Given the description of an element on the screen output the (x, y) to click on. 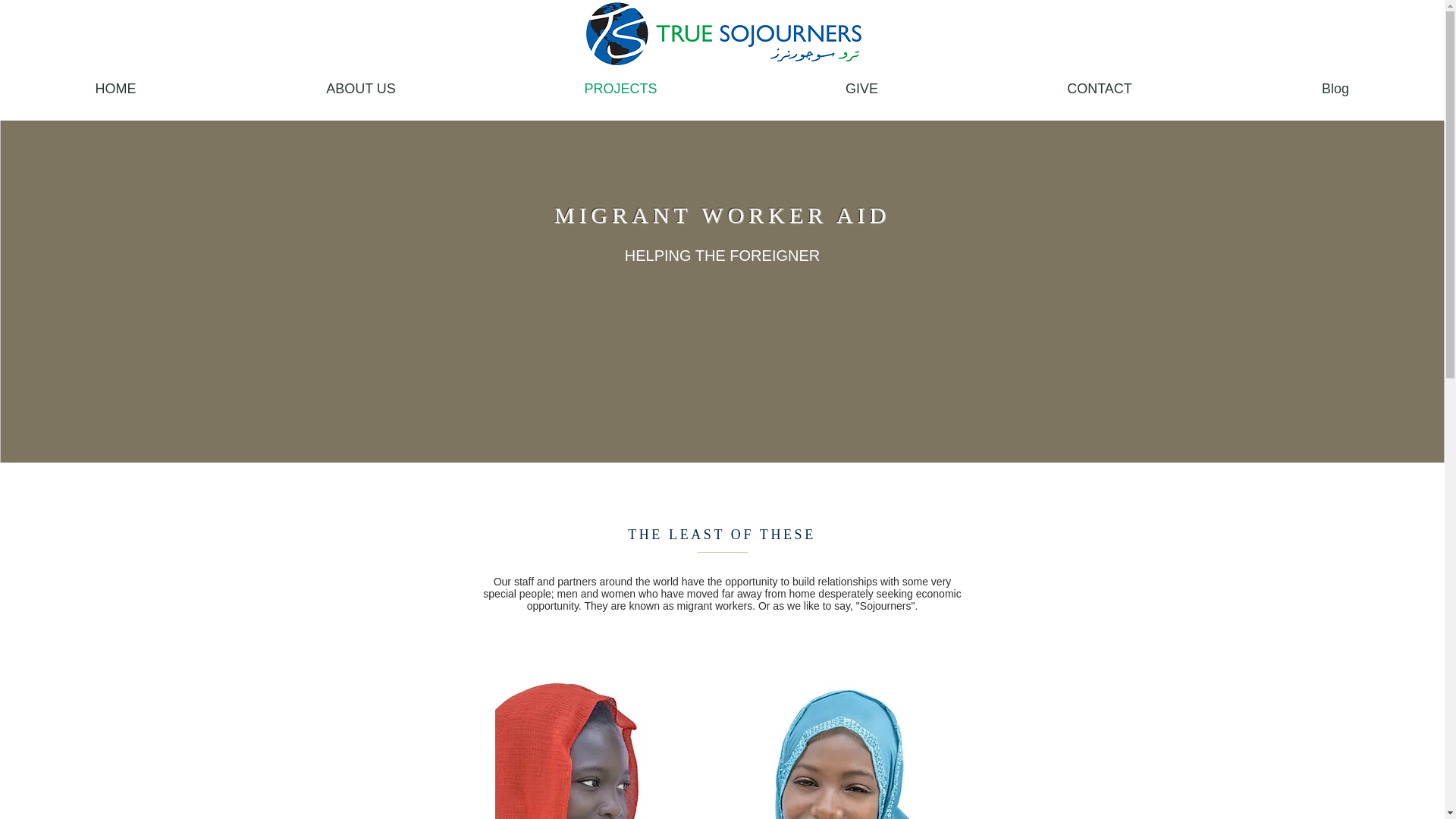
GIVE (861, 87)
CONTACT (1098, 87)
Two Afro beauties wearing a veil, isolated.jpg (722, 737)
HOME (115, 87)
PROJECTS (620, 87)
